Given the description of an element on the screen output the (x, y) to click on. 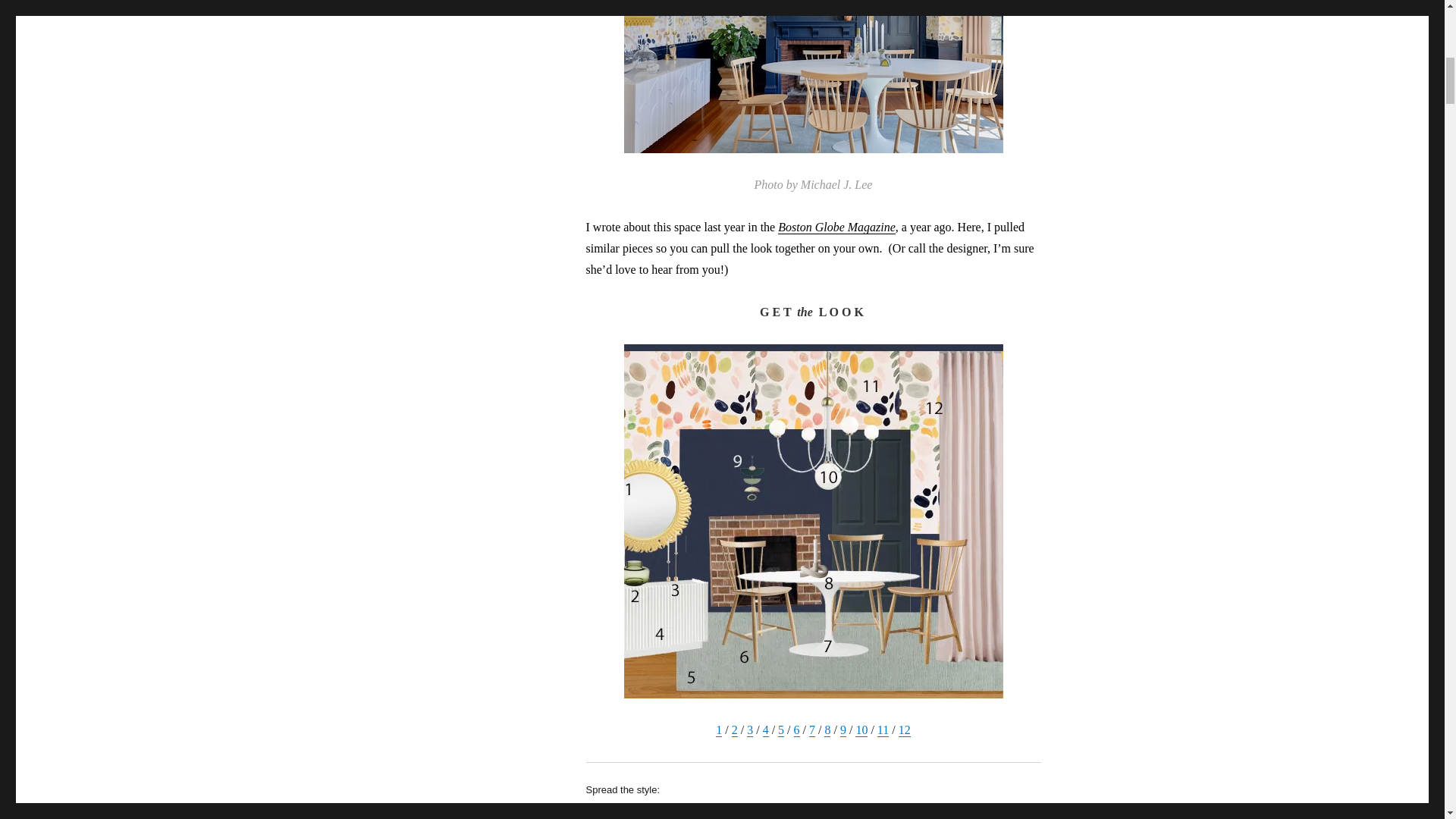
Click to share on Facebook (691, 812)
Facebook (691, 812)
LinkedIn (920, 812)
Click to share on Pinterest (772, 812)
Pinterest (772, 812)
Twitter (616, 812)
Click to share on LinkedIn (920, 812)
Email (990, 812)
Tumblr (847, 812)
Click to email a link to a friend (990, 812)
Boston Globe Magazine (836, 226)
Click to share on Tumblr (847, 812)
12 (904, 729)
10 (861, 729)
Click to share on Twitter (616, 812)
